Given the description of an element on the screen output the (x, y) to click on. 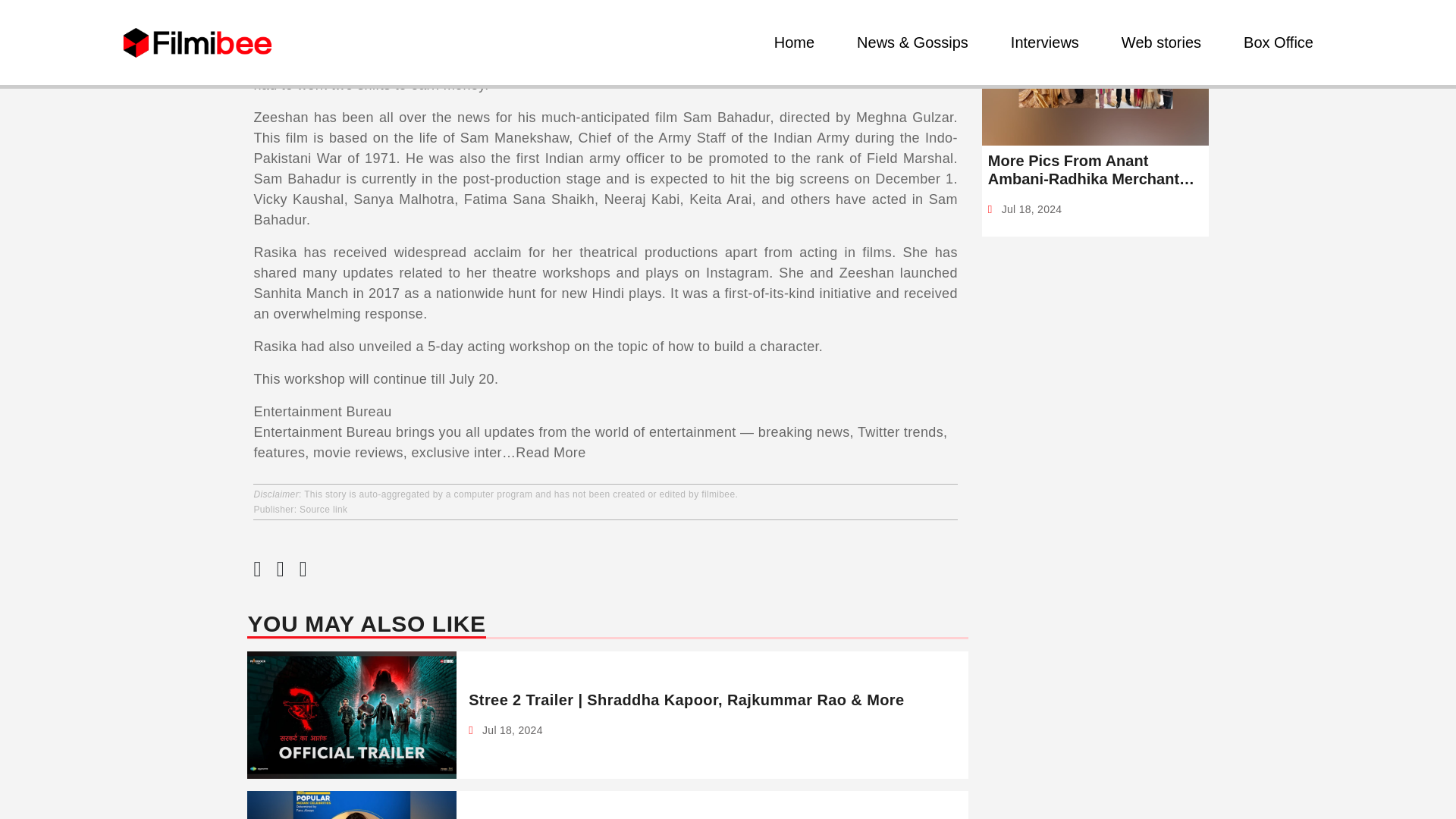
More Pics From Anant Ambani-Radhika Merchant Wedding (1095, 169)
Source link (323, 509)
